Given the description of an element on the screen output the (x, y) to click on. 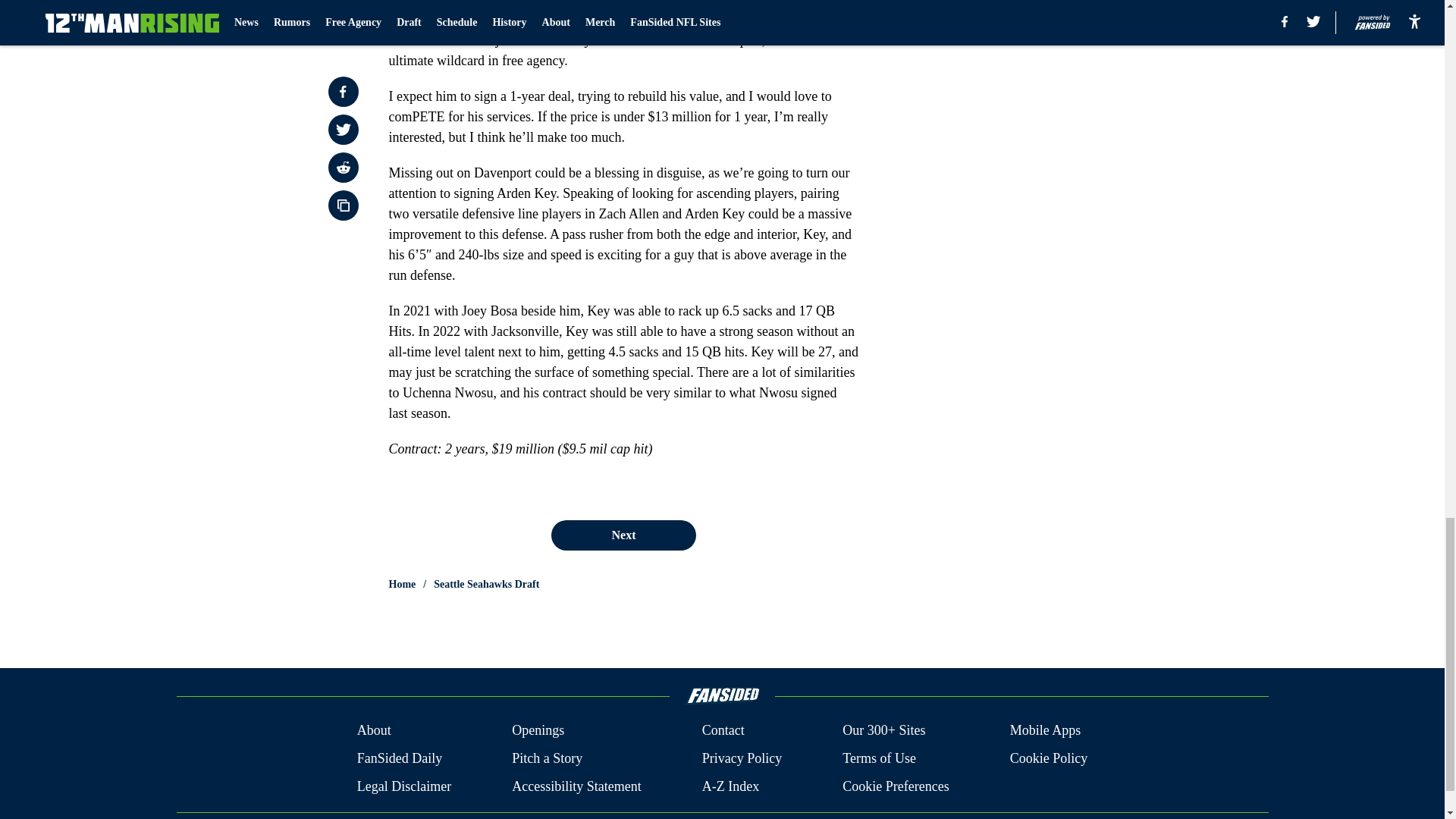
FanSided Daily (399, 758)
Next (622, 535)
Accessibility Statement (576, 786)
Cookie Policy (1048, 758)
Terms of Use (879, 758)
Mobile Apps (1045, 730)
Contact (722, 730)
Privacy Policy (742, 758)
Openings (538, 730)
Home (401, 584)
